Given the description of an element on the screen output the (x, y) to click on. 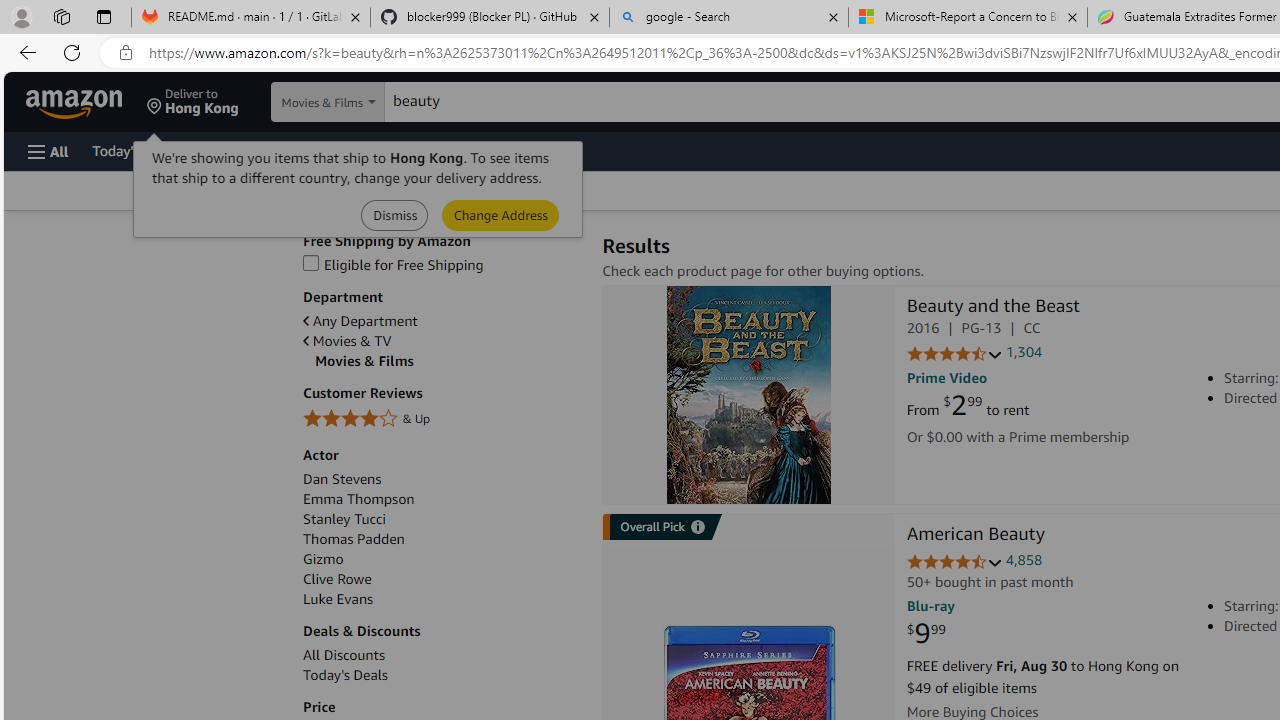
google - Search (729, 17)
Today's Deals (442, 675)
Luke Evans (338, 599)
Sell (509, 150)
Stanley Tucci (344, 519)
Beauty and the Beast (748, 394)
Submit (499, 214)
Movies & TV (347, 341)
Eligible for Free Shipping (442, 265)
Close tab (1072, 16)
Microsoft-Report a Concern to Bing (967, 17)
Stanley Tucci (442, 519)
Workspaces (61, 16)
Today's Deals (345, 675)
